Given the description of an element on the screen output the (x, y) to click on. 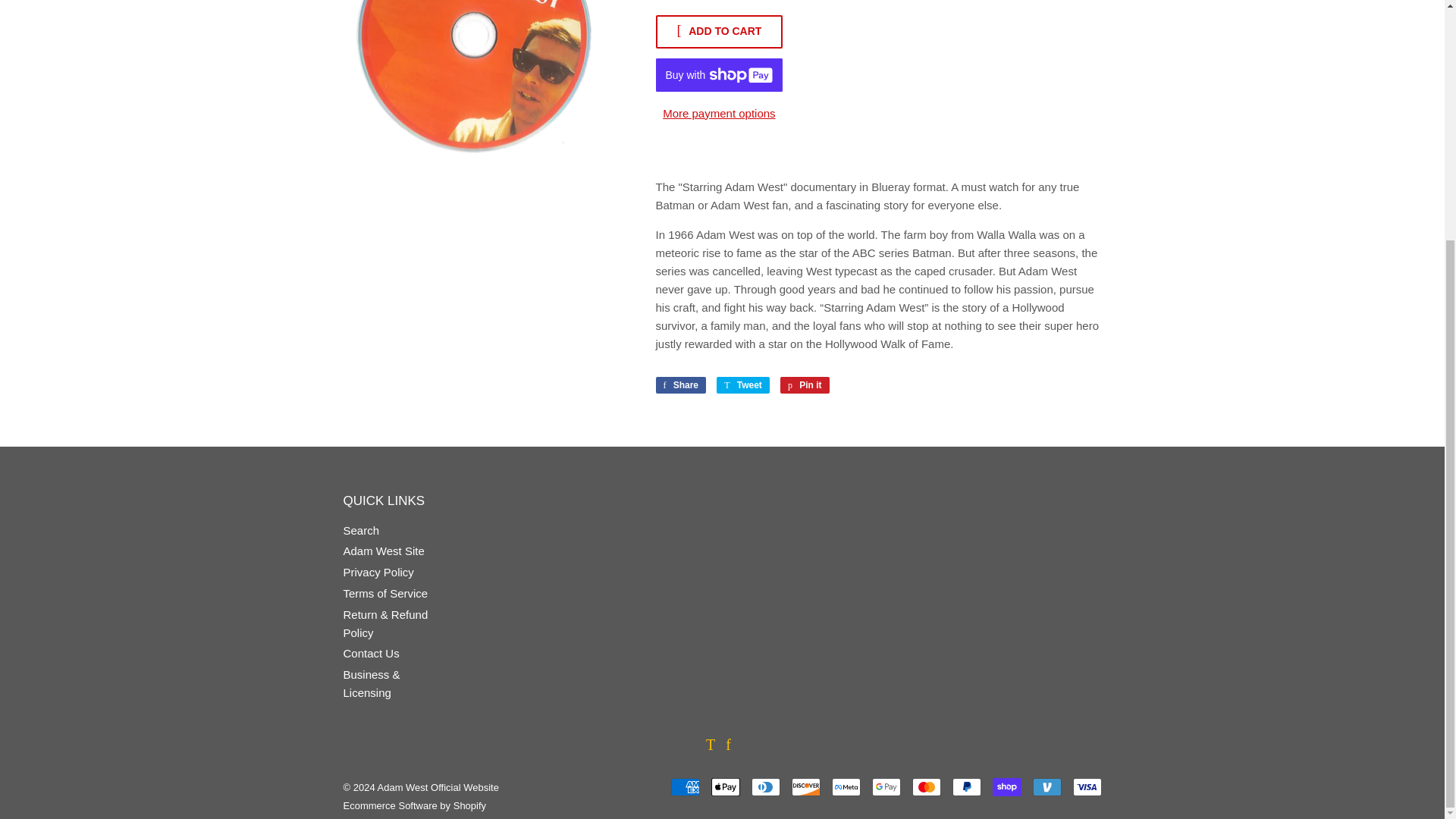
Venmo (1046, 787)
Discover (806, 787)
PayPal (804, 384)
Meta Pay (966, 787)
Ecommerce Software by Shopify (845, 787)
ADD TO CART (414, 805)
Tweet on Twitter (719, 31)
Contact Us (680, 384)
American Express (743, 384)
Terms of Service (370, 653)
Adam West Site (683, 787)
Google Pay (385, 593)
Apple Pay (382, 550)
